Given the description of an element on the screen output the (x, y) to click on. 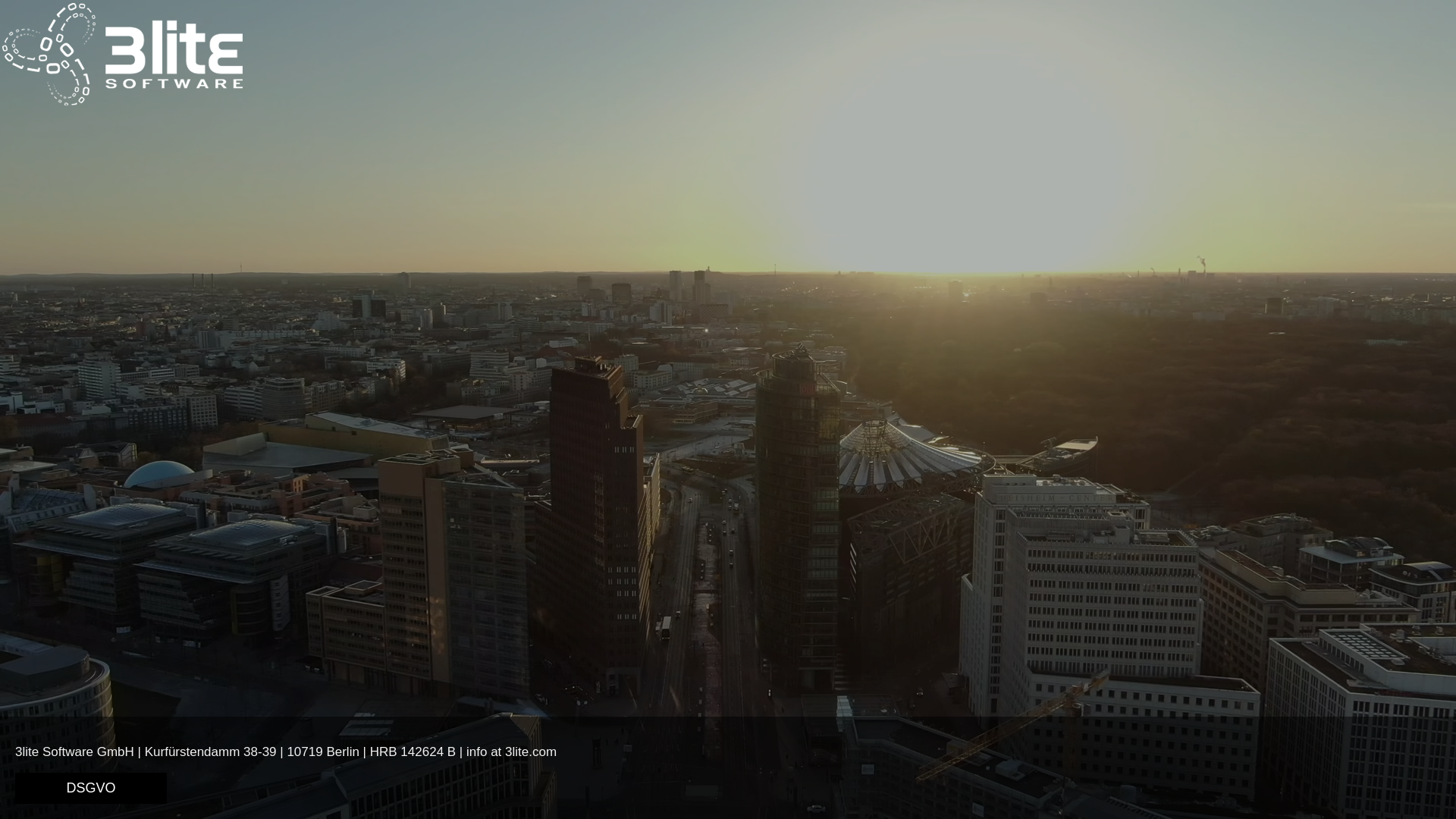
DSGVO Element type: text (90, 787)
